Given the description of an element on the screen output the (x, y) to click on. 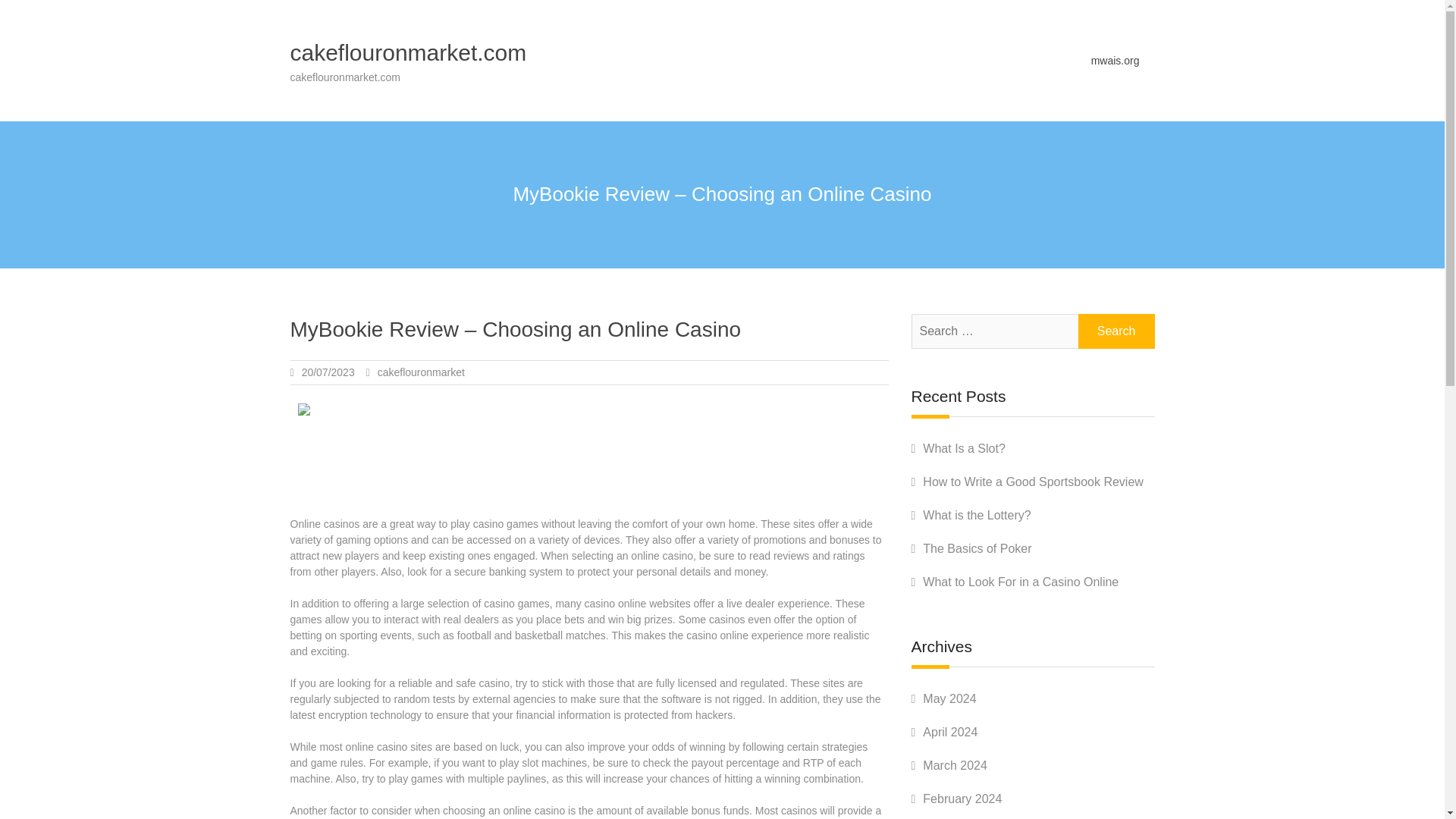
cakeflouronmarket.com (407, 52)
April 2024 (949, 731)
mwais.org (1114, 59)
What is the Lottery? (976, 514)
How to Write a Good Sportsbook Review (1032, 481)
Search (1116, 330)
May 2024 (949, 698)
What Is a Slot? (964, 448)
Search (1116, 330)
The Basics of Poker (976, 548)
What to Look For in a Casino Online (1020, 581)
February 2024 (962, 798)
March 2024 (955, 765)
Search (1116, 330)
cakeflouronmarket (420, 372)
